Given the description of an element on the screen output the (x, y) to click on. 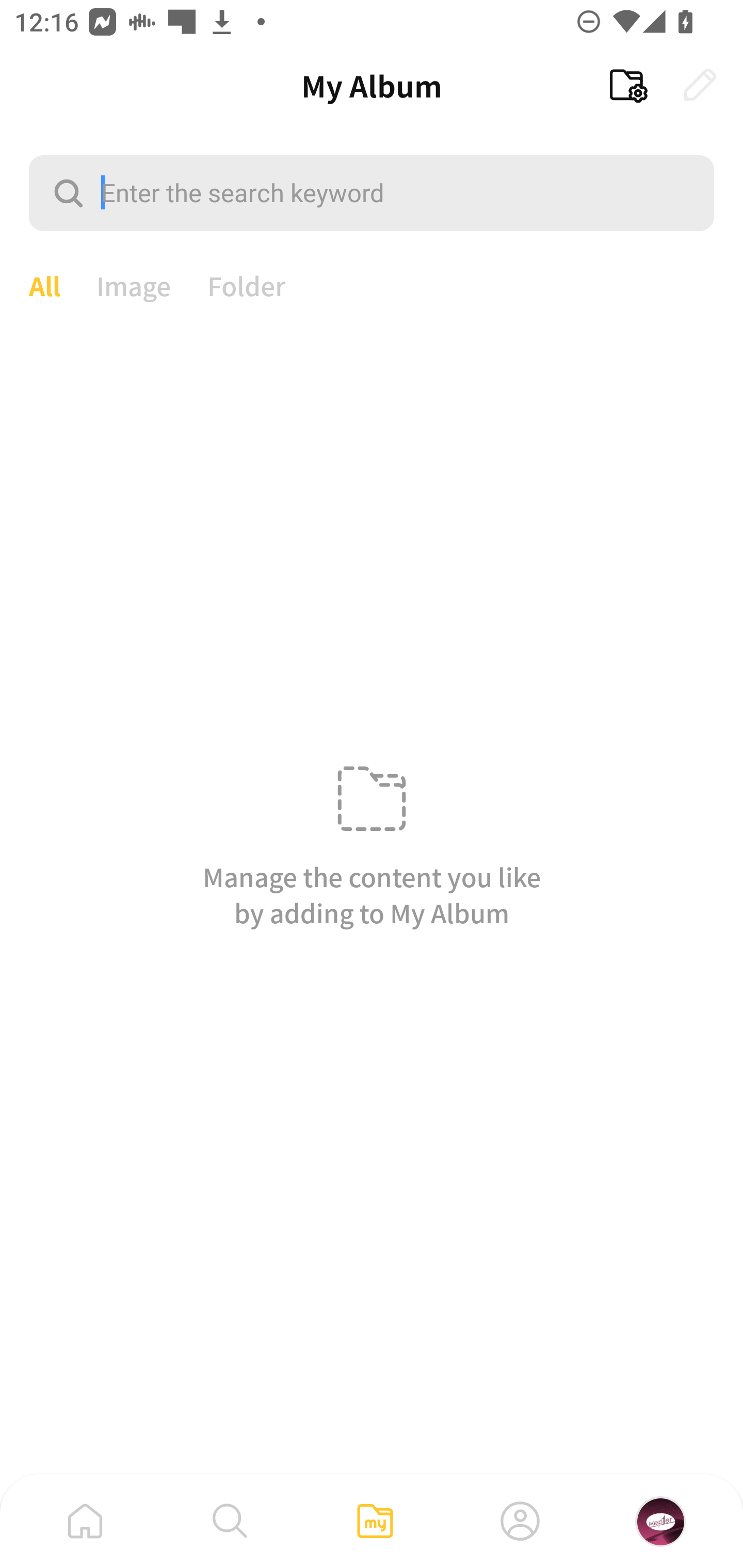
Enter the search keyword (371, 192)
All (44, 284)
Image (133, 284)
Folder (246, 284)
